Given the description of an element on the screen output the (x, y) to click on. 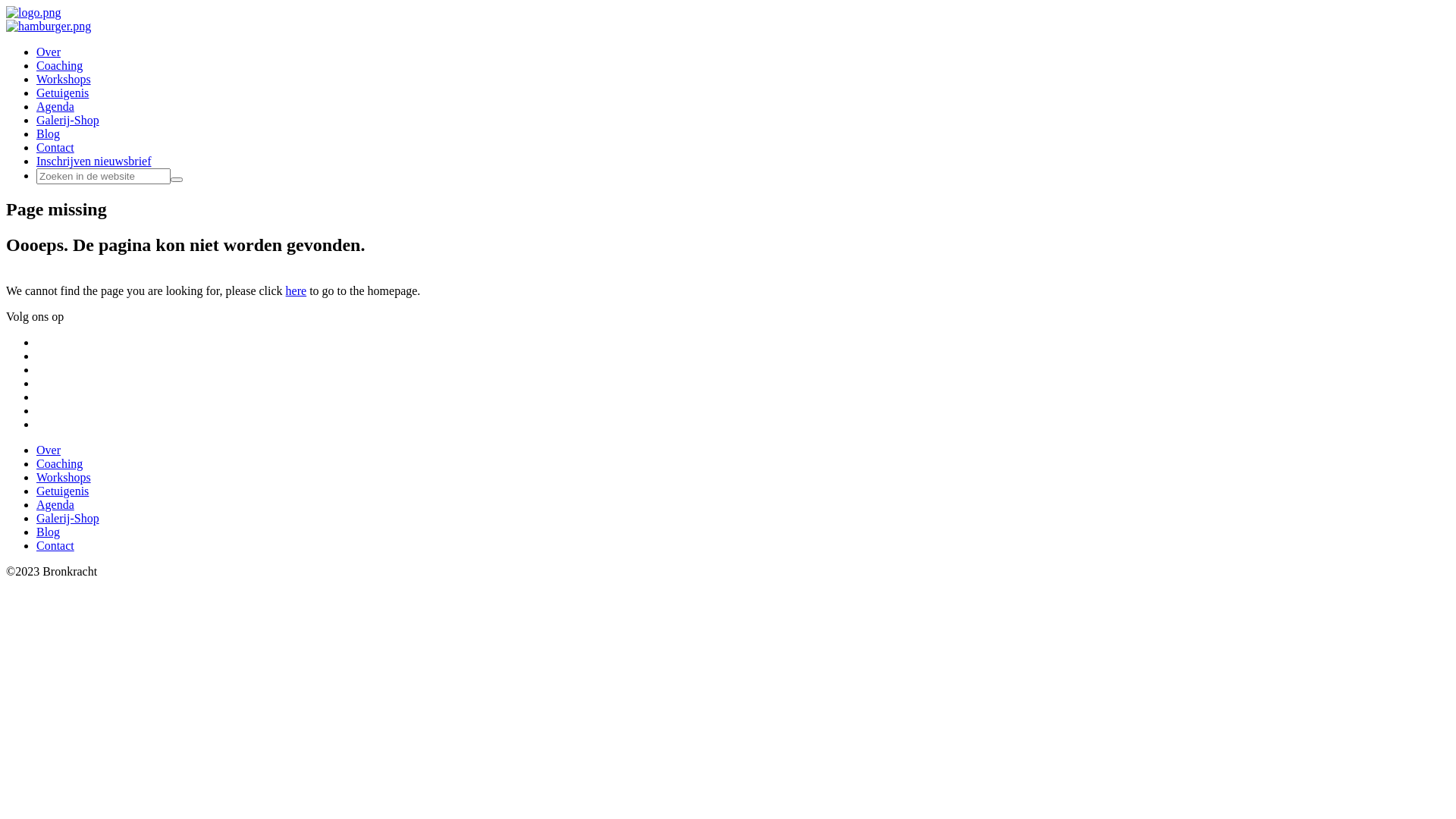
Contact Element type: text (55, 147)
Getuigenis Element type: text (62, 490)
Over Element type: text (48, 449)
Coaching Element type: text (59, 65)
Workshops Element type: text (63, 78)
Agenda Element type: text (55, 504)
Agenda Element type: text (55, 106)
Over Element type: text (48, 51)
Inschrijven nieuwsbrief Element type: text (93, 160)
Contact Element type: text (55, 545)
Galerij-Shop Element type: text (67, 517)
Bronkracht Element type: hover (33, 12)
Blog Element type: text (47, 531)
Getuigenis Element type: text (62, 92)
Blog Element type: text (47, 133)
Coaching Element type: text (59, 463)
here Element type: text (296, 290)
Workshops Element type: text (63, 476)
Galerij-Shop Element type: text (67, 119)
